Given the description of an element on the screen output the (x, y) to click on. 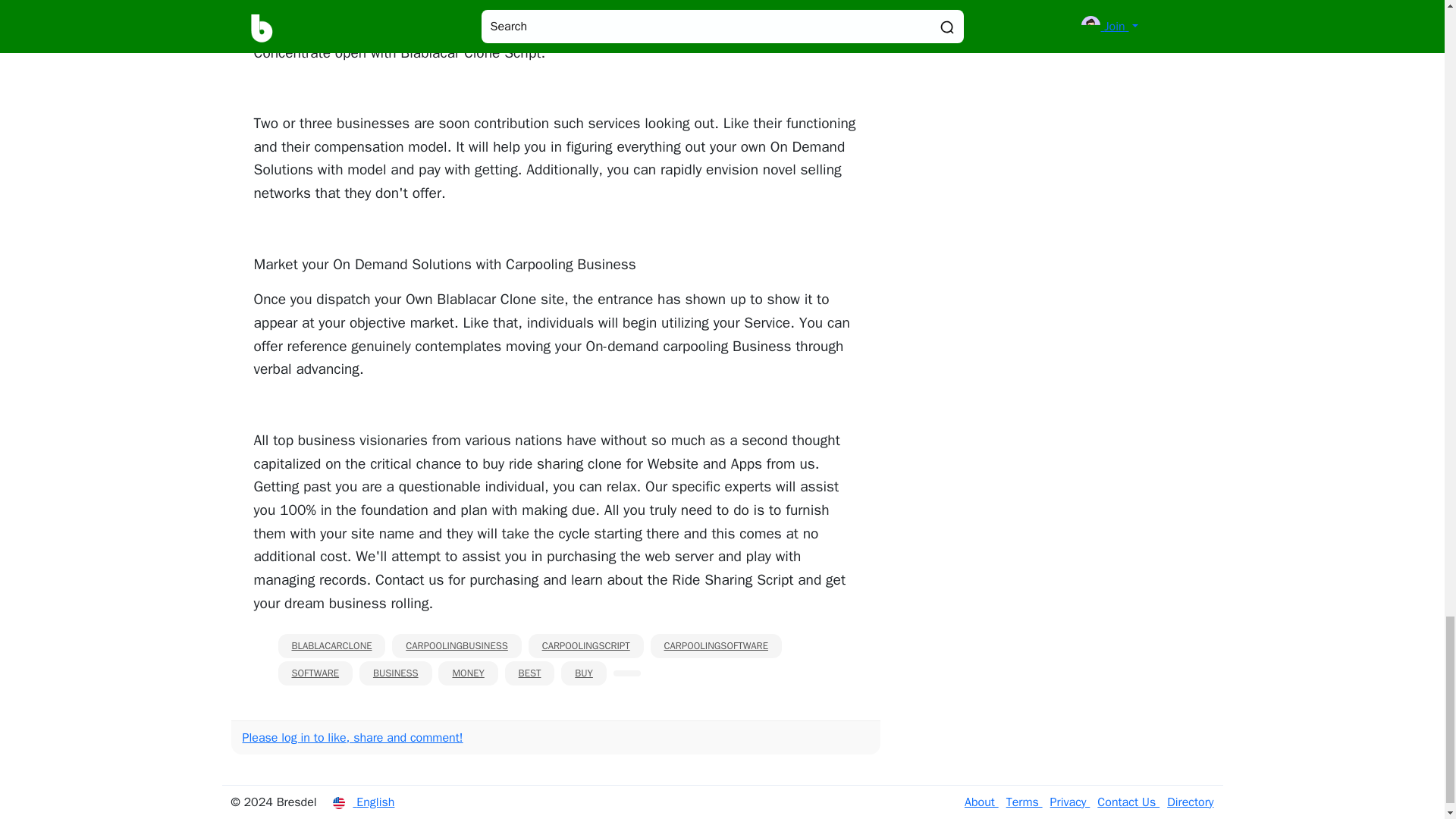
BUSINESS (395, 672)
CARPOOLINGBUSINESS (456, 645)
BEST (529, 672)
CARPOOLINGSCRIPT (585, 645)
BLABLACARCLONE (331, 645)
MONEY (467, 672)
CARPOOLINGSOFTWARE (715, 645)
SOFTWARE (315, 672)
BUY (583, 672)
